Given the description of an element on the screen output the (x, y) to click on. 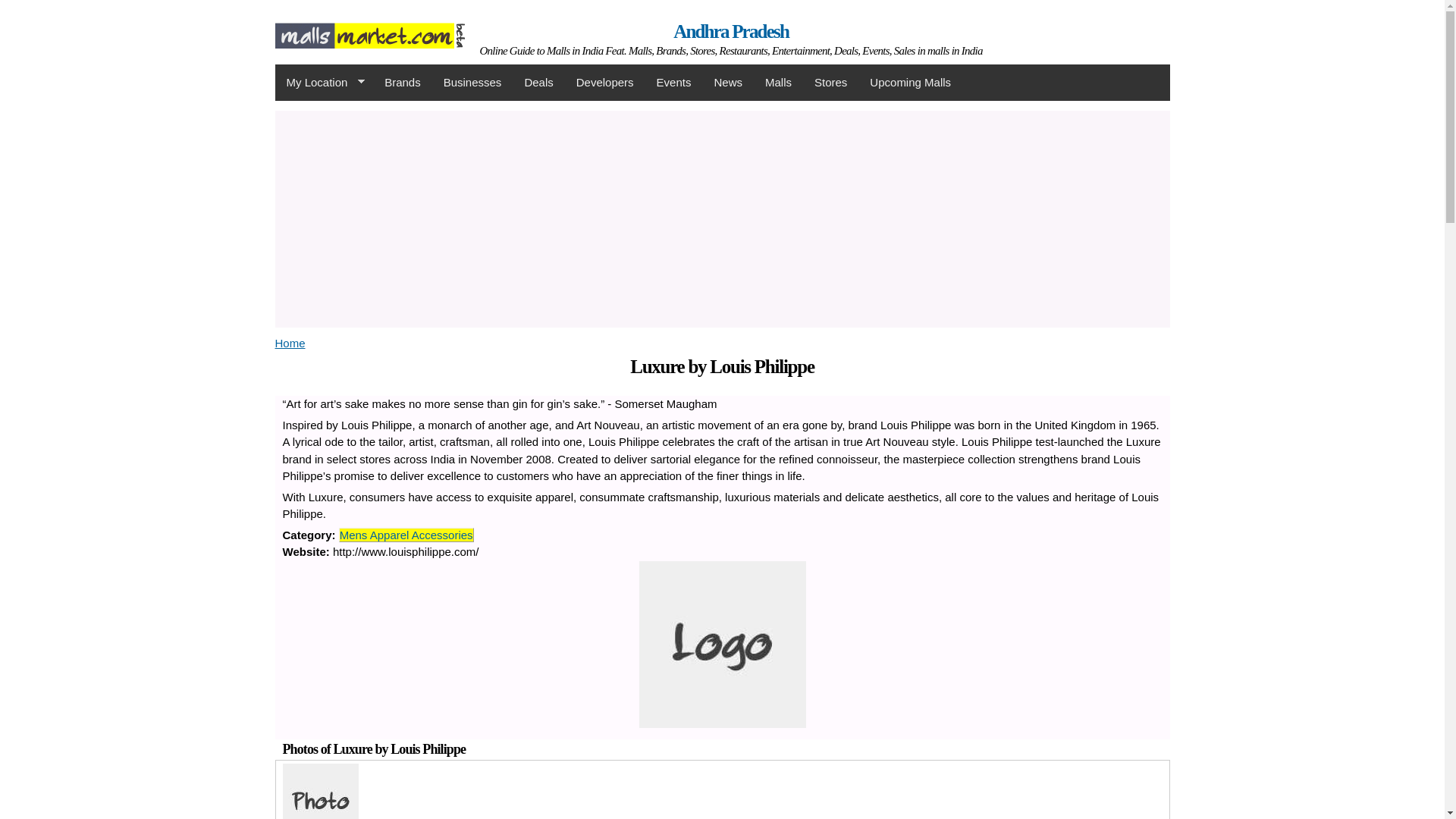
Stores (831, 82)
Deals (538, 82)
Andhra Pradesh (369, 39)
Skip to main content (688, 1)
Developers (604, 82)
Businesses (472, 82)
Home (289, 342)
Home (730, 31)
Upcoming Malls (910, 82)
Brands (402, 82)
